Given the description of an element on the screen output the (x, y) to click on. 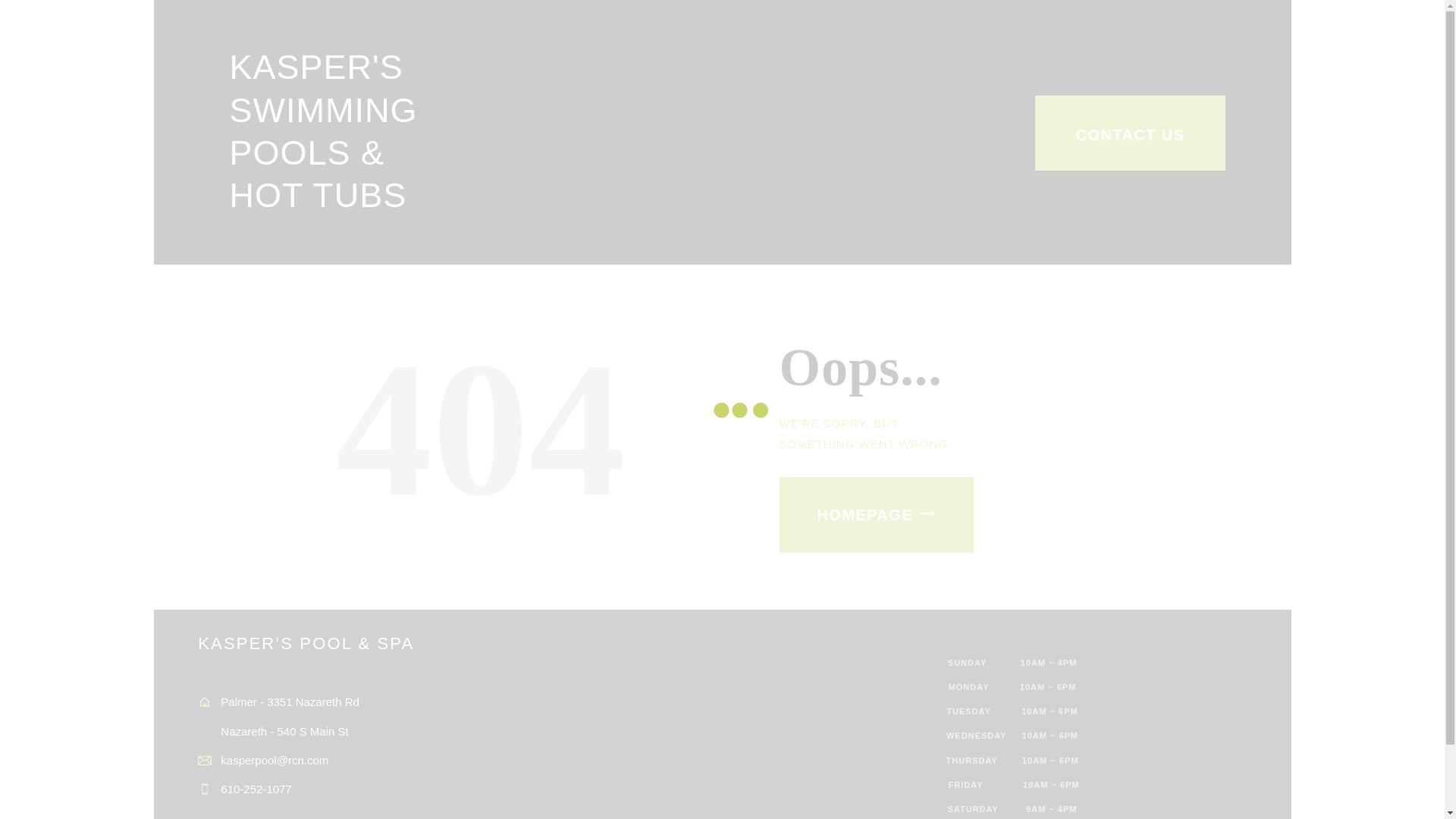
610-252-1077 (256, 788)
HOMEPAGE (876, 514)
CONTACT US (1130, 132)
